Given the description of an element on the screen output the (x, y) to click on. 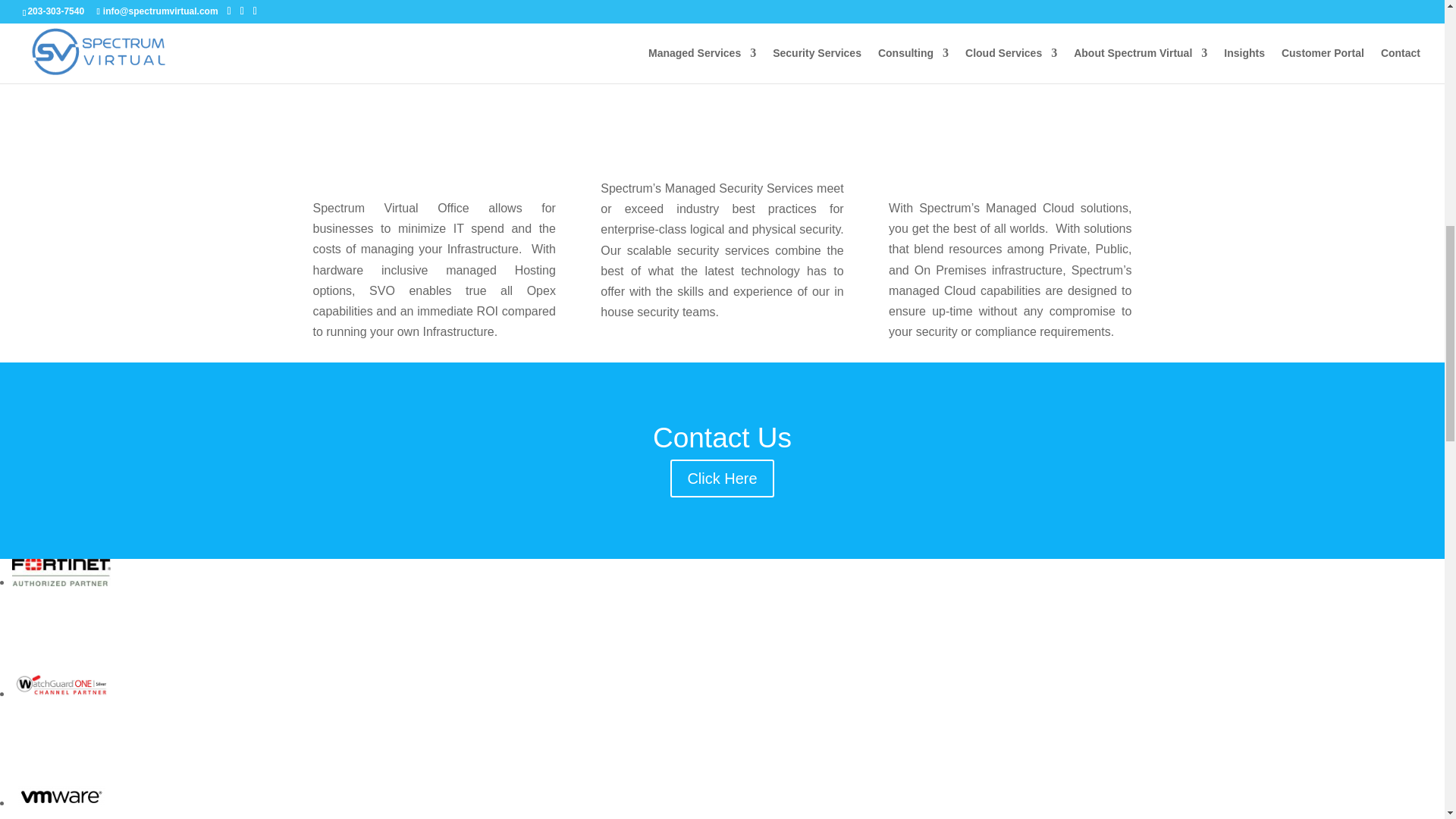
VMWare (60, 796)
Fortinet (433, 18)
Watchguard (60, 572)
